Given the description of an element on the screen output the (x, y) to click on. 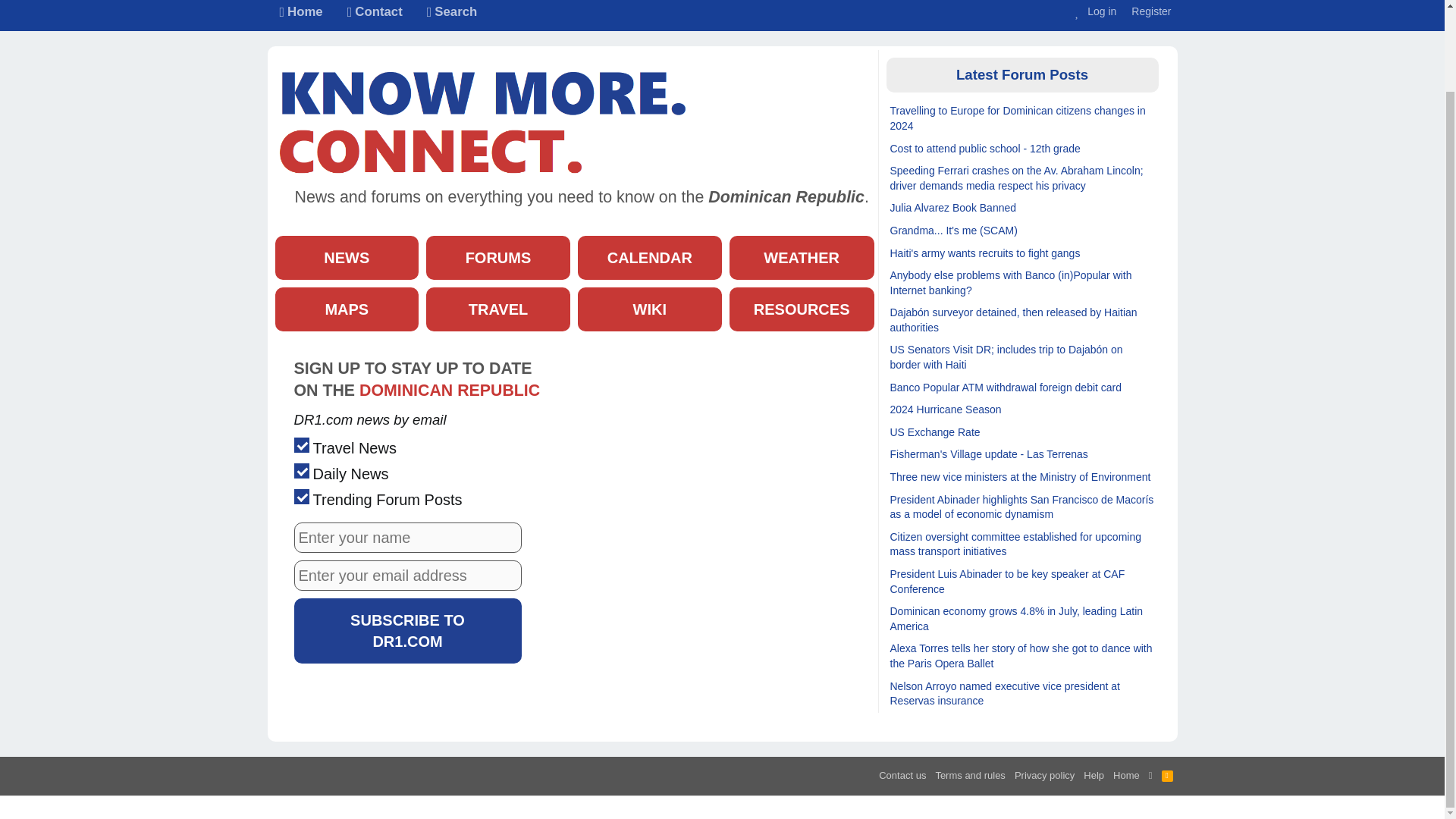
RSS (1167, 775)
WEATHER (377, 15)
TRAVEL (802, 257)
Log in (498, 309)
CALENDAR (1093, 13)
Home (650, 257)
Search (300, 15)
FORUMS (451, 15)
WIKI (498, 257)
